Given the description of an element on the screen output the (x, y) to click on. 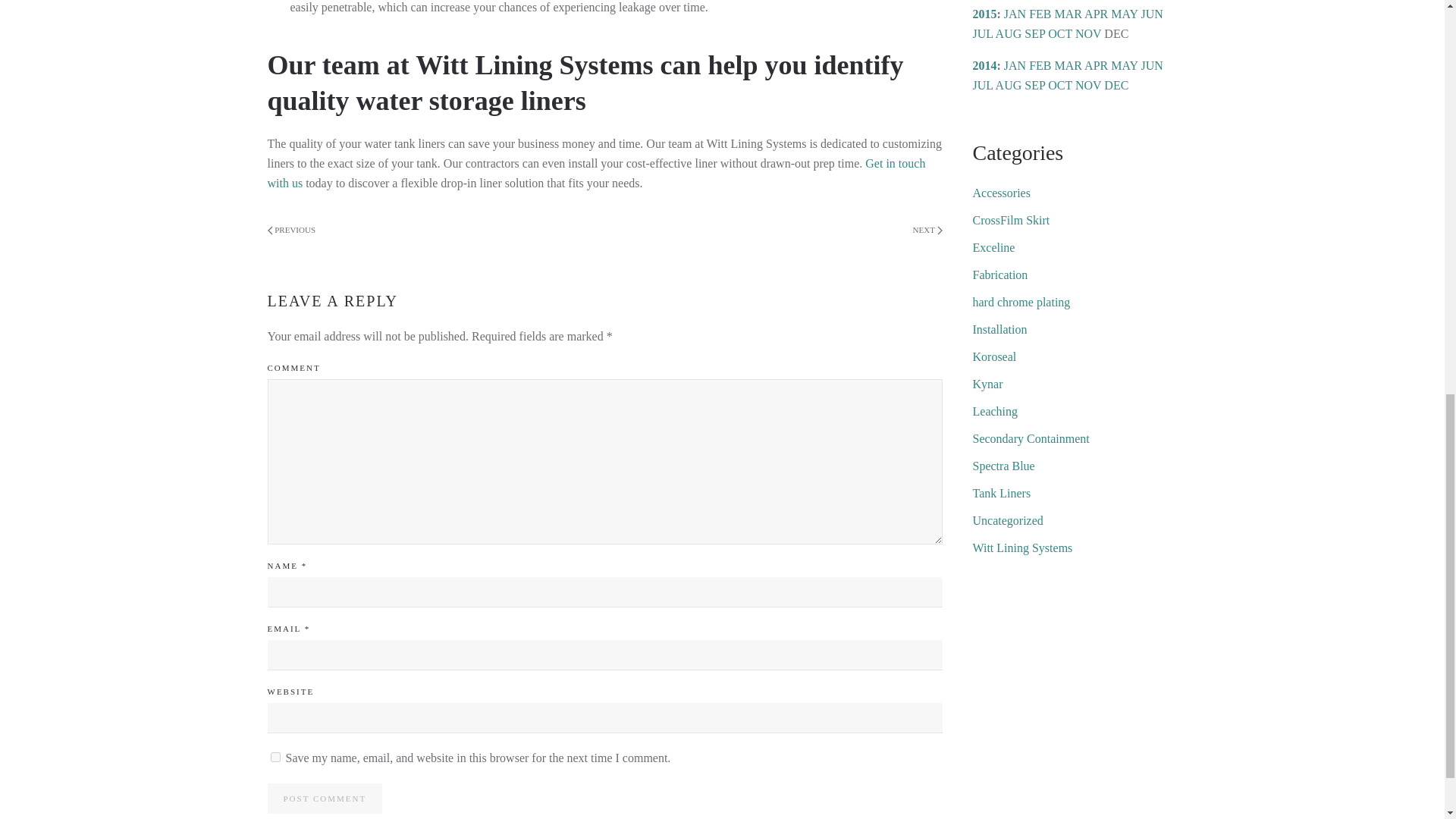
yes (274, 757)
POST COMMENT (323, 798)
NEXT (927, 230)
PREVIOUS (290, 230)
Get in touch with us (595, 173)
